Given the description of an element on the screen output the (x, y) to click on. 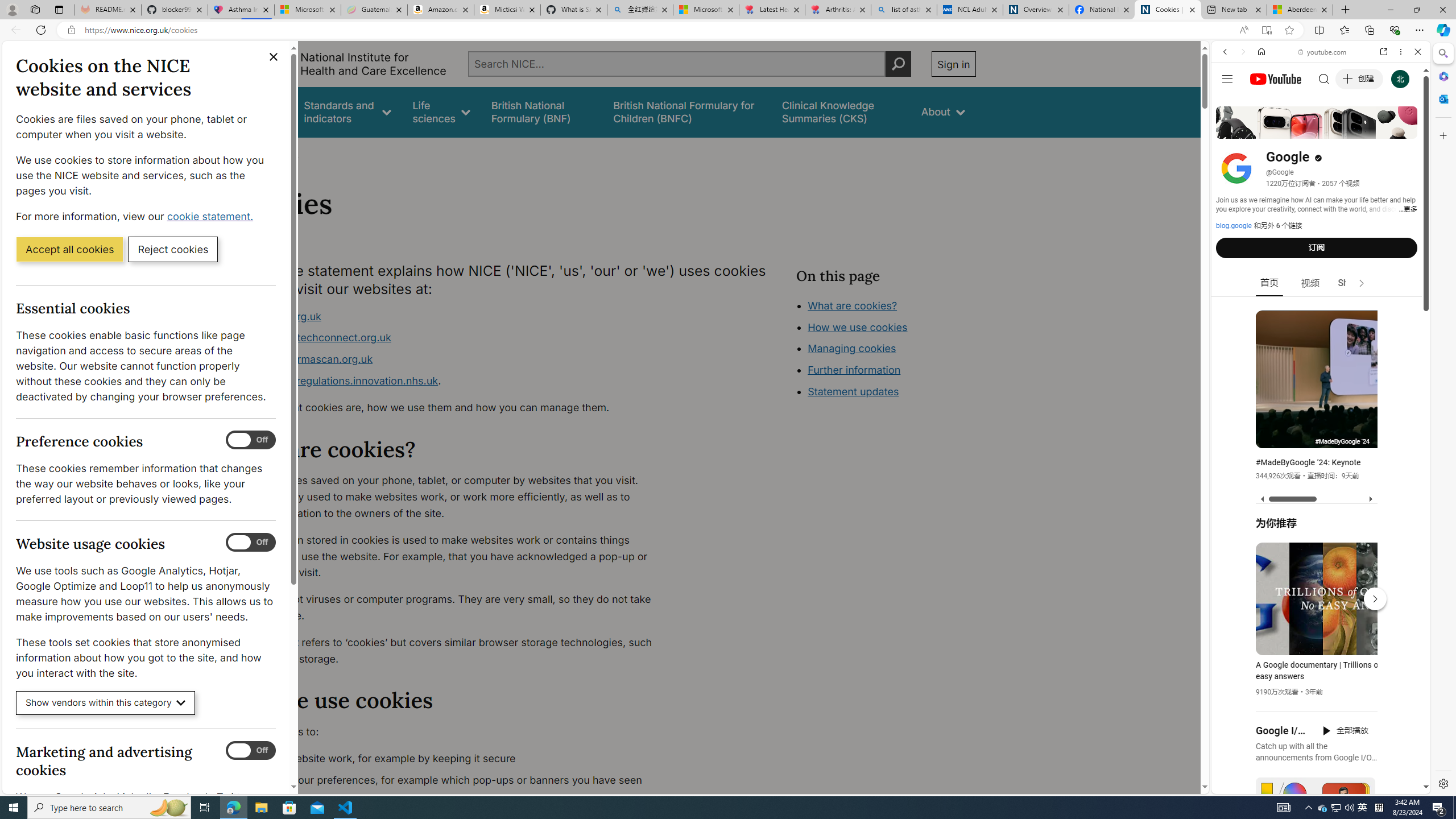
Website usage cookies (250, 542)
Shorts (1351, 283)
About (283, 152)
Search Filter, Search Tools (1350, 129)
Home> (246, 152)
Google (1320, 281)
Close cookie banner (273, 56)
Actions for this site (1371, 661)
